Given the description of an element on the screen output the (x, y) to click on. 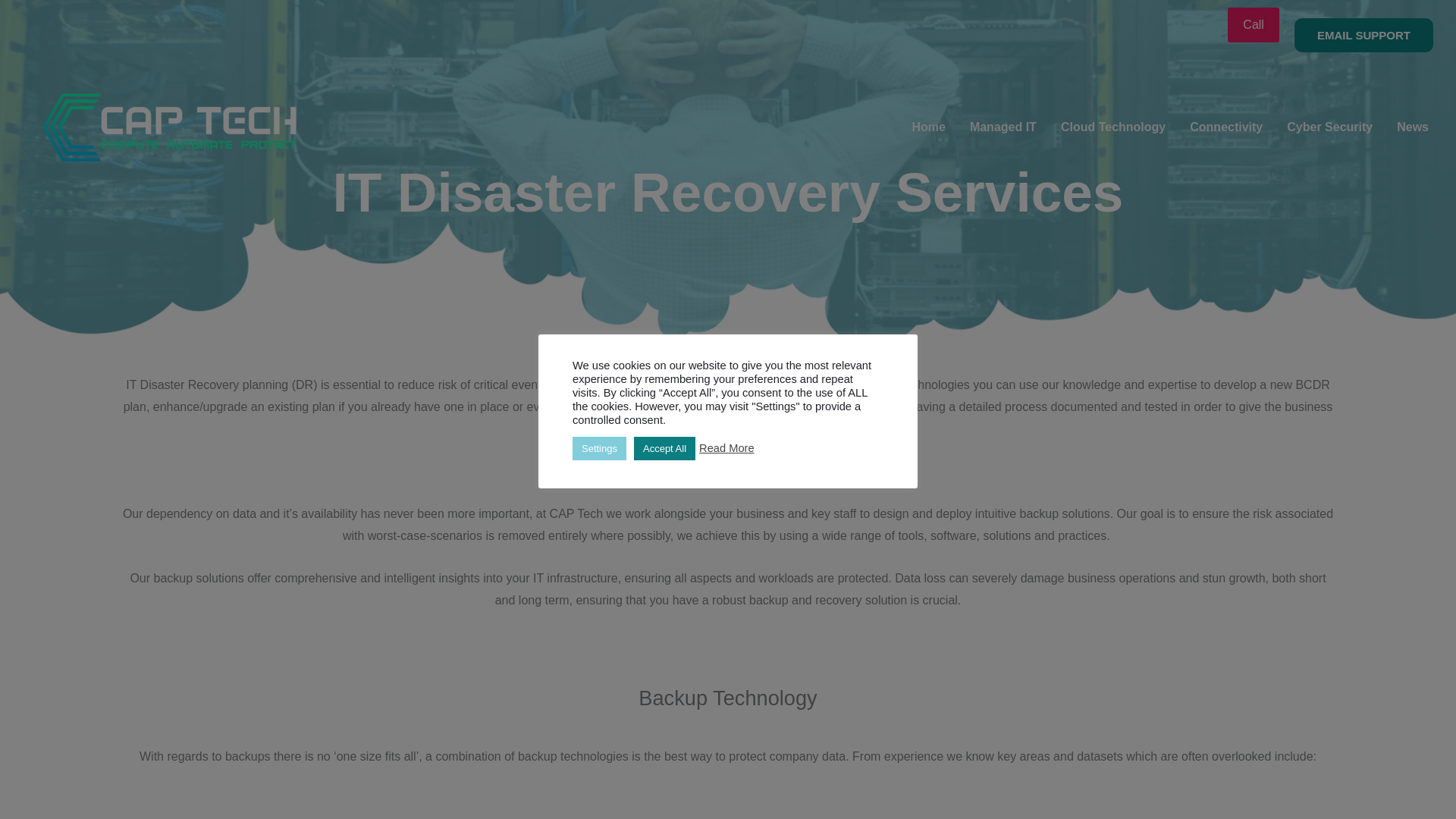
EMAIL SUPPORT (1363, 35)
Cloud Technology (1112, 126)
Cyber Security (1329, 126)
Managed IT (1003, 126)
Connectivity (1226, 126)
Home (927, 126)
News (1412, 126)
Call (1253, 24)
